Given the description of an element on the screen output the (x, y) to click on. 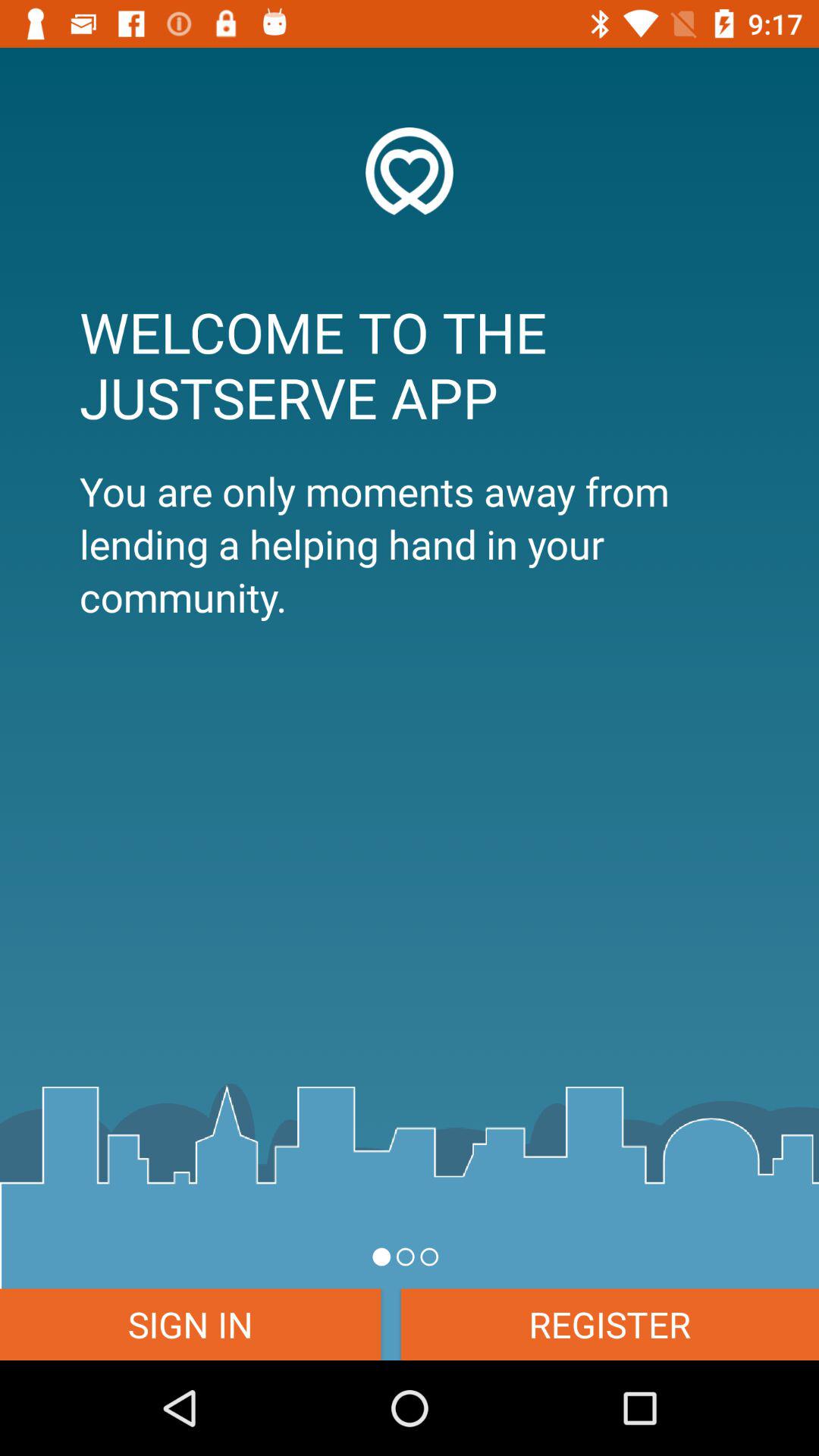
flip until the sign in (190, 1324)
